Given the description of an element on the screen output the (x, y) to click on. 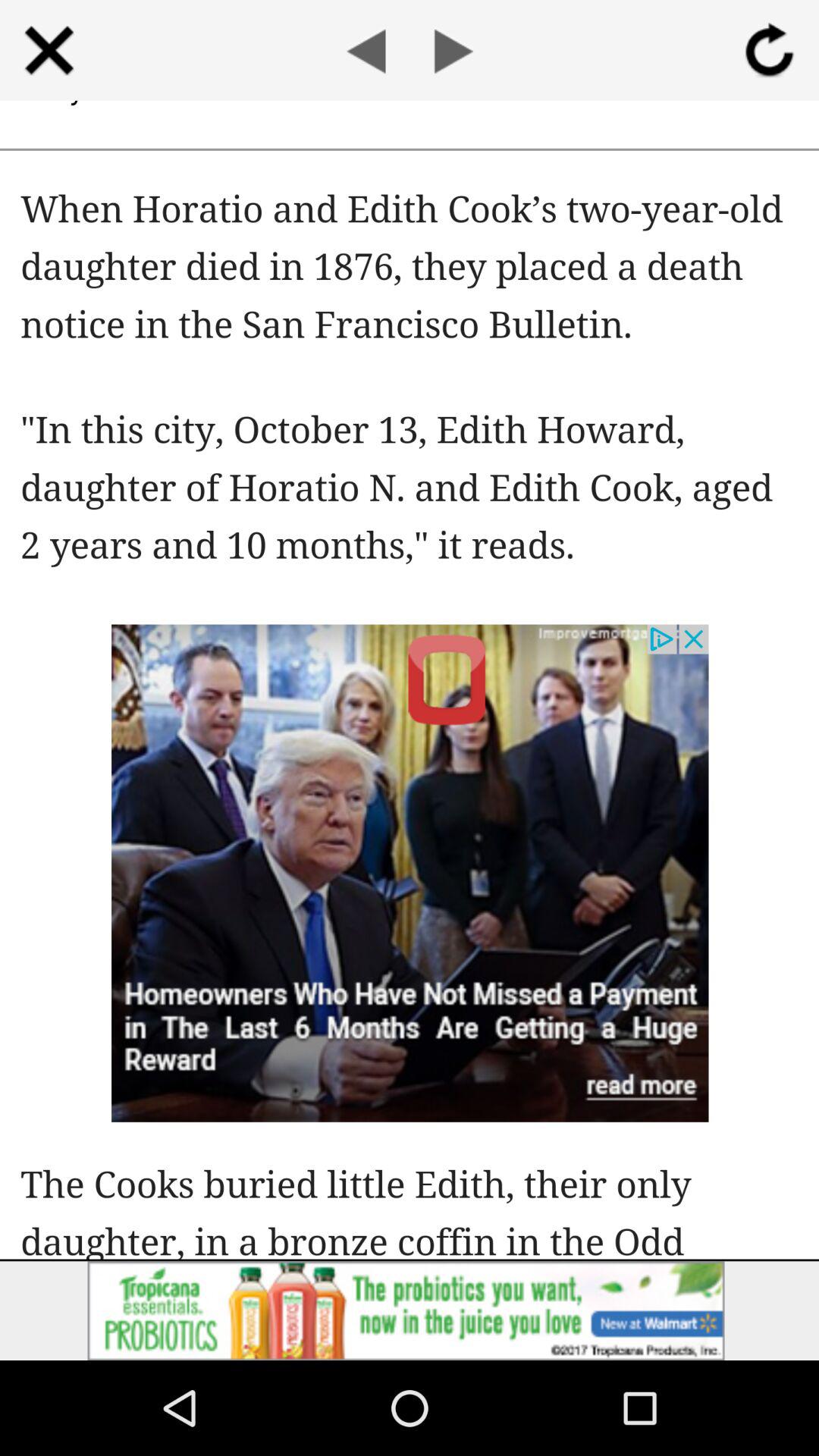
go to last page (365, 49)
